Given the description of an element on the screen output the (x, y) to click on. 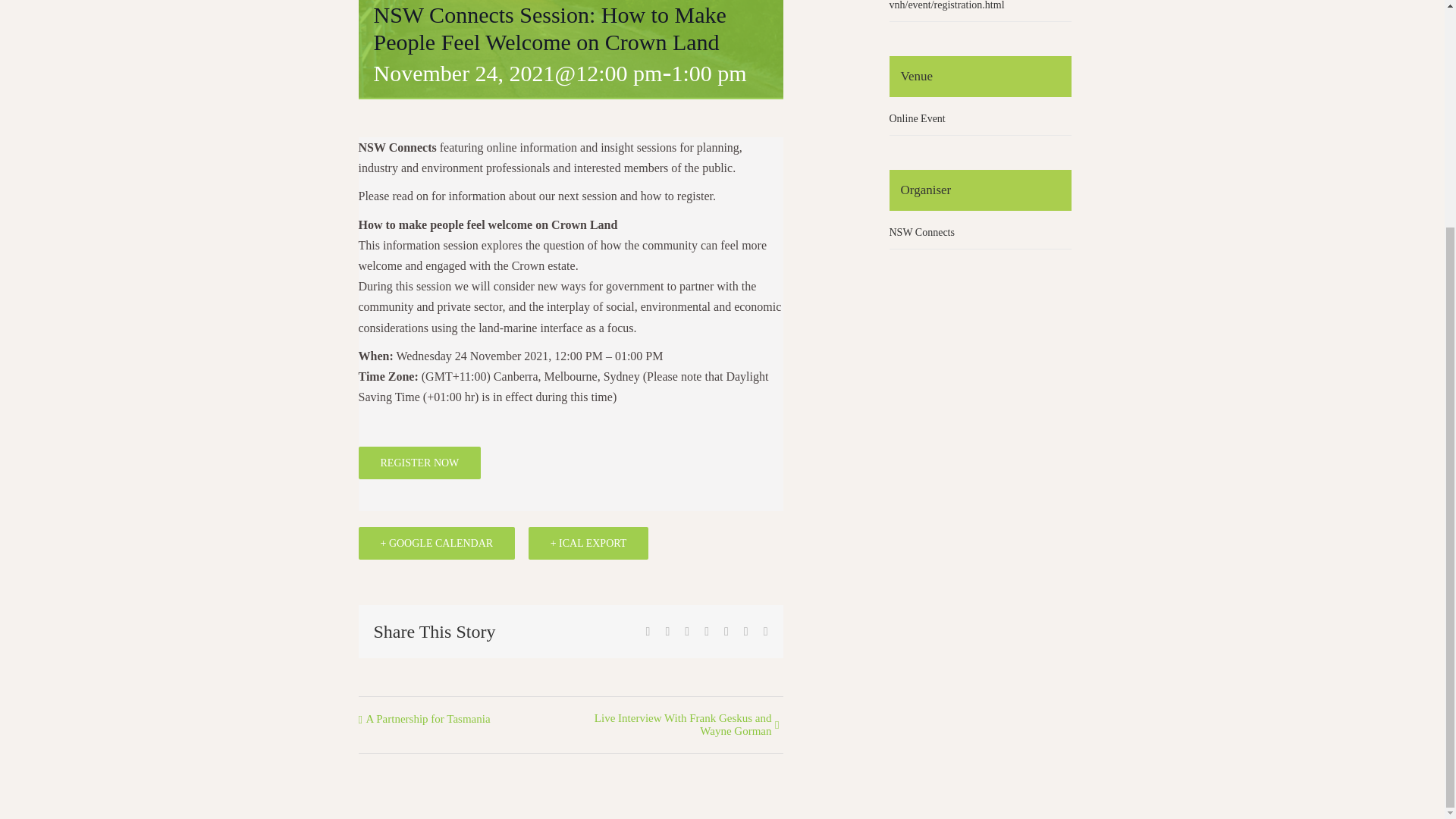
NSW Connects (920, 232)
Download .ics file (588, 543)
Add to Google Calendar (436, 543)
